Given the description of an element on the screen output the (x, y) to click on. 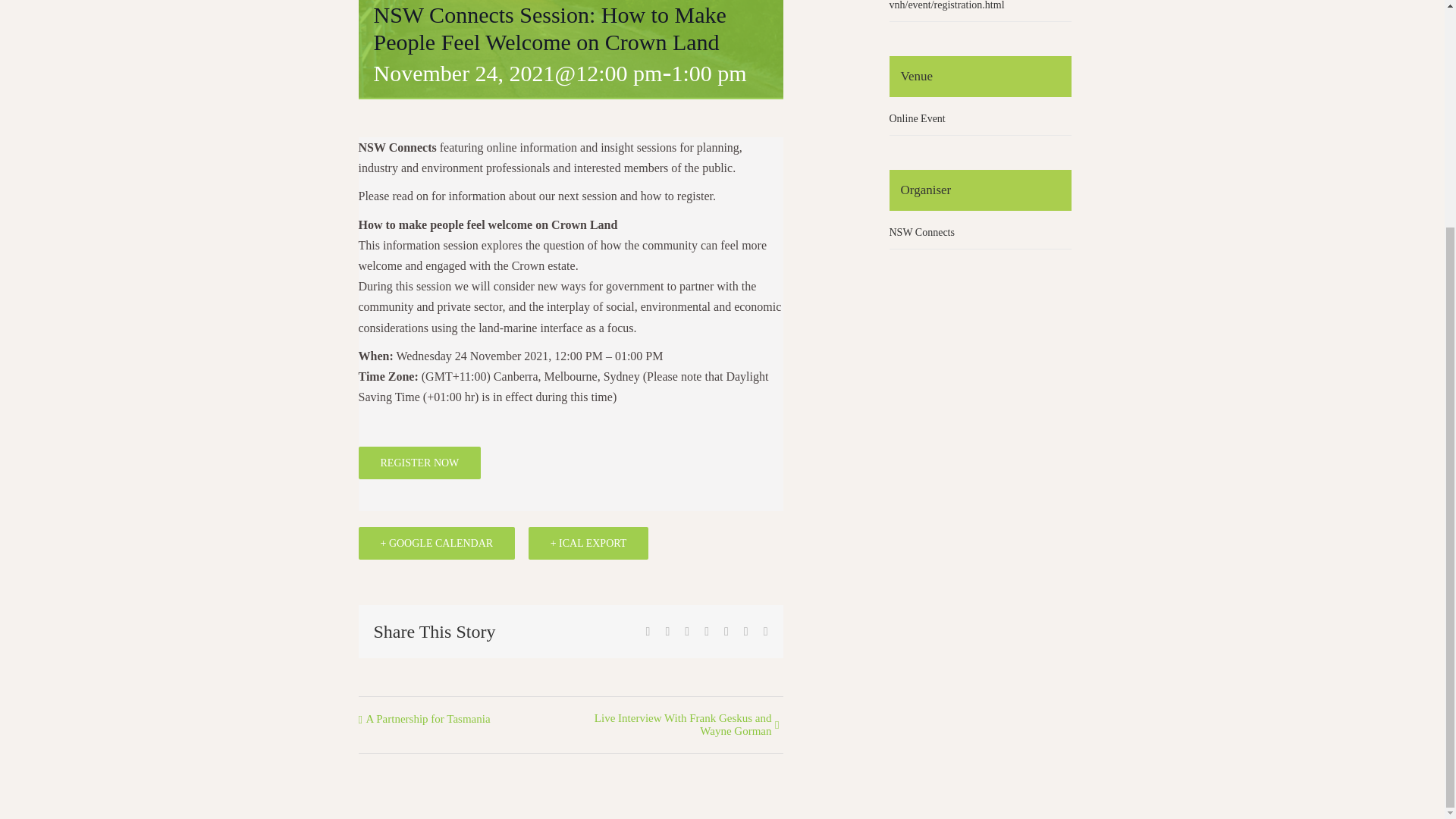
NSW Connects (920, 232)
Download .ics file (588, 543)
Add to Google Calendar (436, 543)
